Given the description of an element on the screen output the (x, y) to click on. 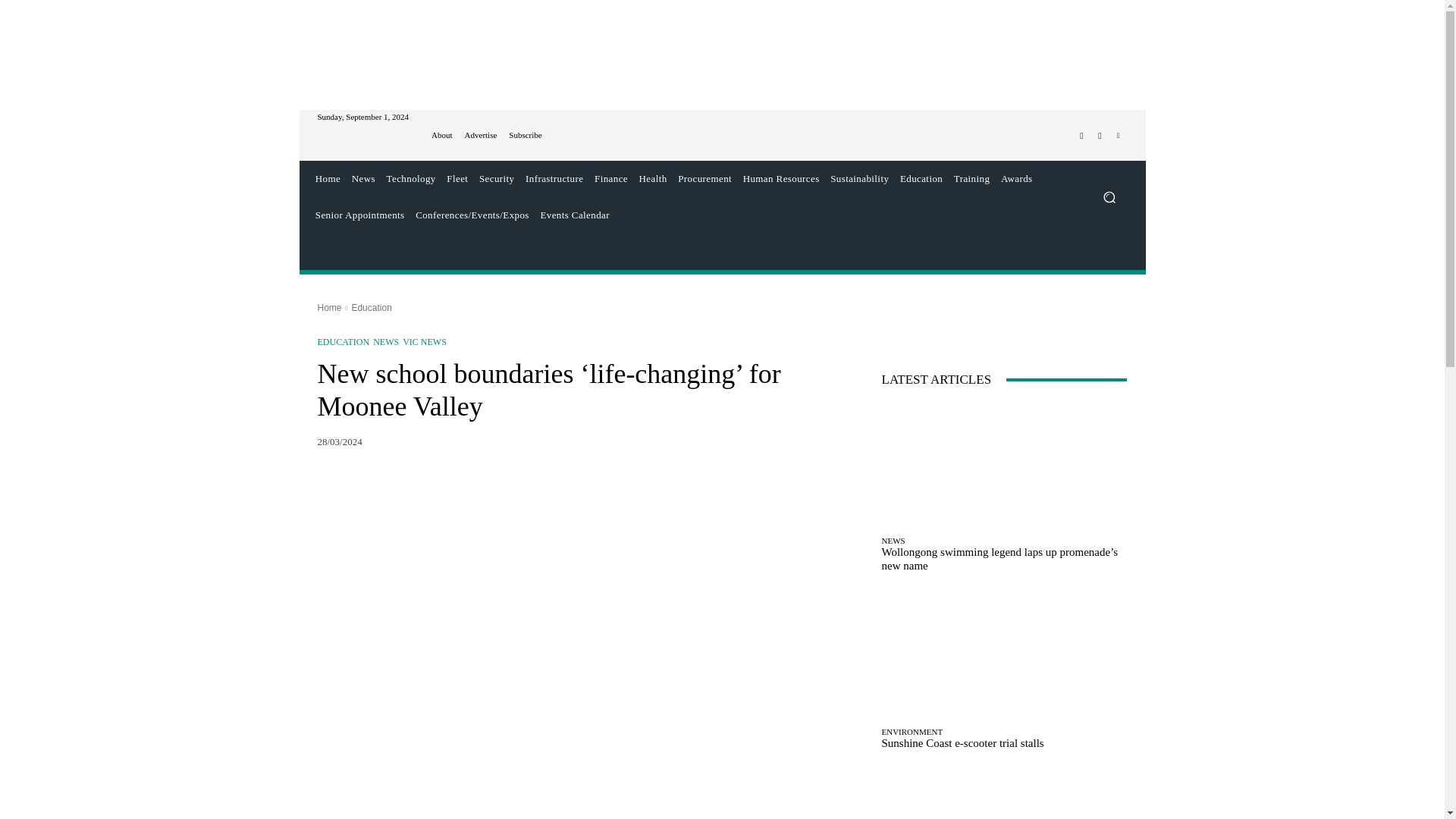
Linkedin (1117, 135)
Twitter (1099, 135)
About (441, 135)
View all posts in Education (370, 307)
Advertise (480, 135)
Facebook (1080, 135)
Home (327, 178)
Subscribe (524, 135)
News (363, 178)
